Given the description of an element on the screen output the (x, y) to click on. 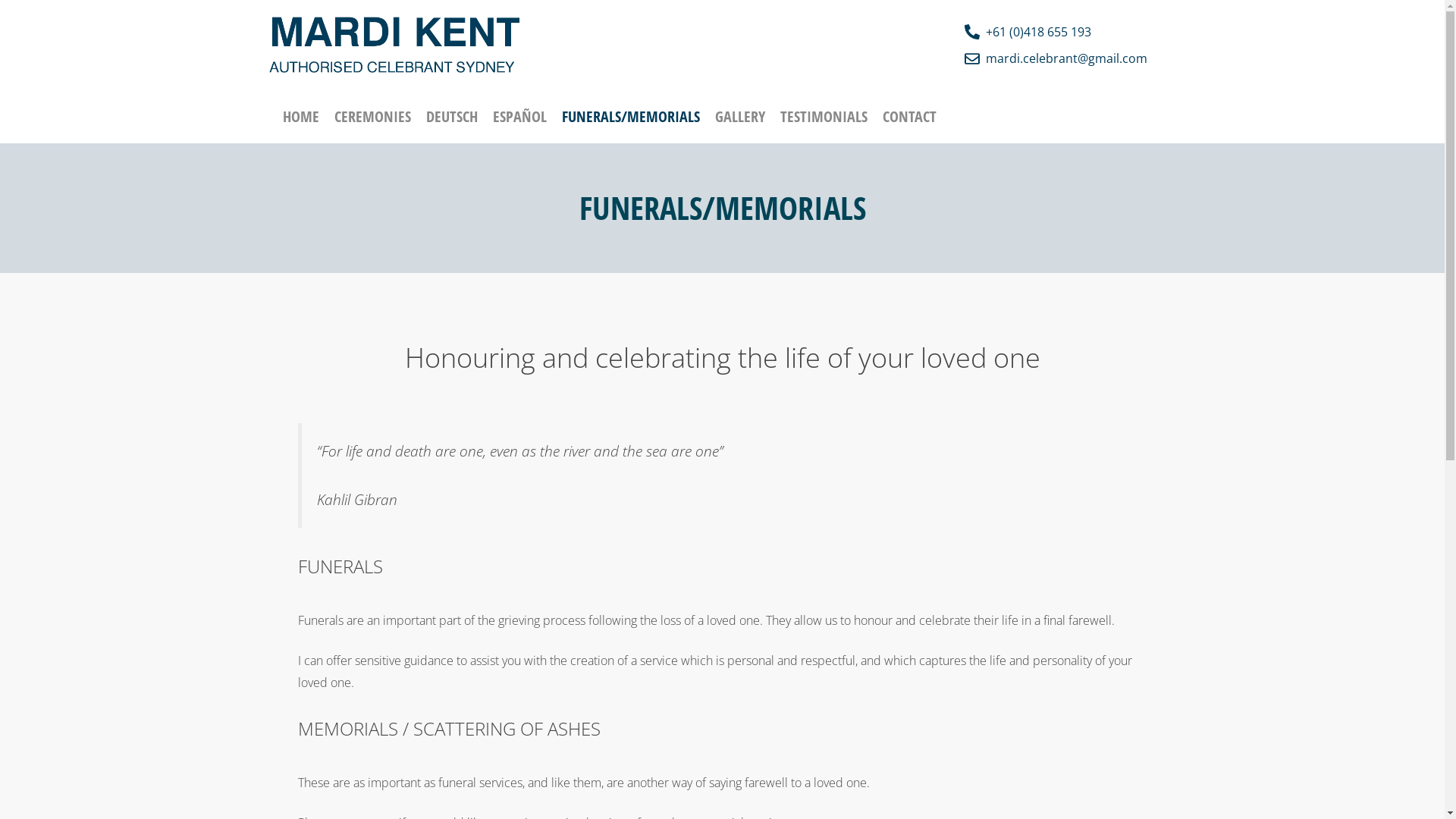
FUNERALS/MEMORIALS Element type: text (629, 116)
CONTACT Element type: text (909, 116)
mardi.celebrant@gmail.com Element type: text (1055, 58)
+61 (0)418 655 193 Element type: text (1055, 31)
CEREMONIES Element type: text (371, 116)
HOME Element type: text (300, 116)
GALLERY Element type: text (738, 116)
TESTIMONIALS Element type: text (822, 116)
DEUTSCH Element type: text (451, 116)
